Given the description of an element on the screen output the (x, y) to click on. 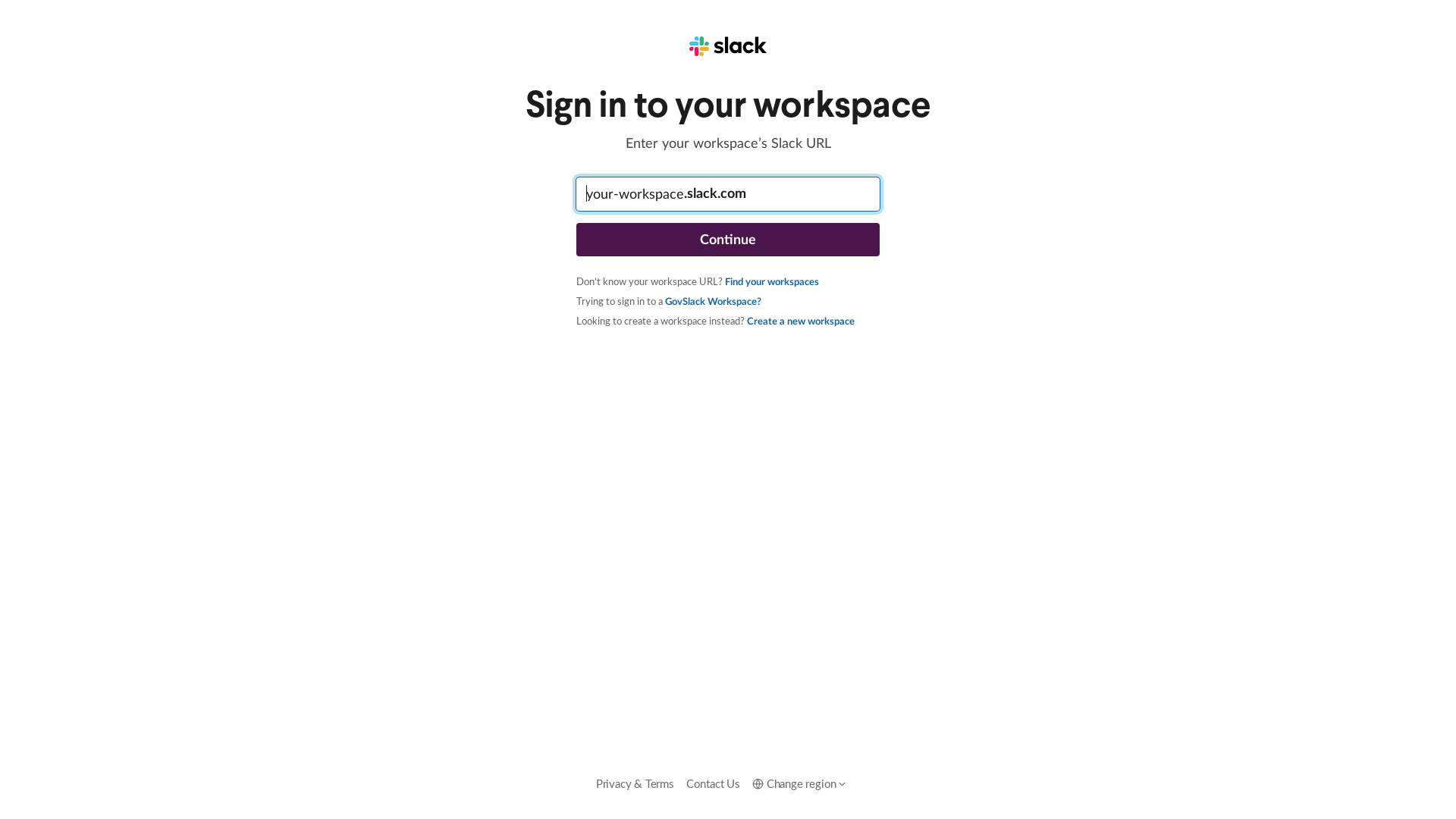
Create a new workspace Element type: text (800, 320)
GovSlack Workspace? Element type: text (713, 300)
Change region Element type: text (799, 783)
Continue Element type: text (727, 239)
Contact Us Element type: text (713, 783)
Find your workspaces Element type: text (771, 281)
Privacy & Terms Element type: text (635, 783)
Slack Element type: hover (727, 46)
